Given the description of an element on the screen output the (x, y) to click on. 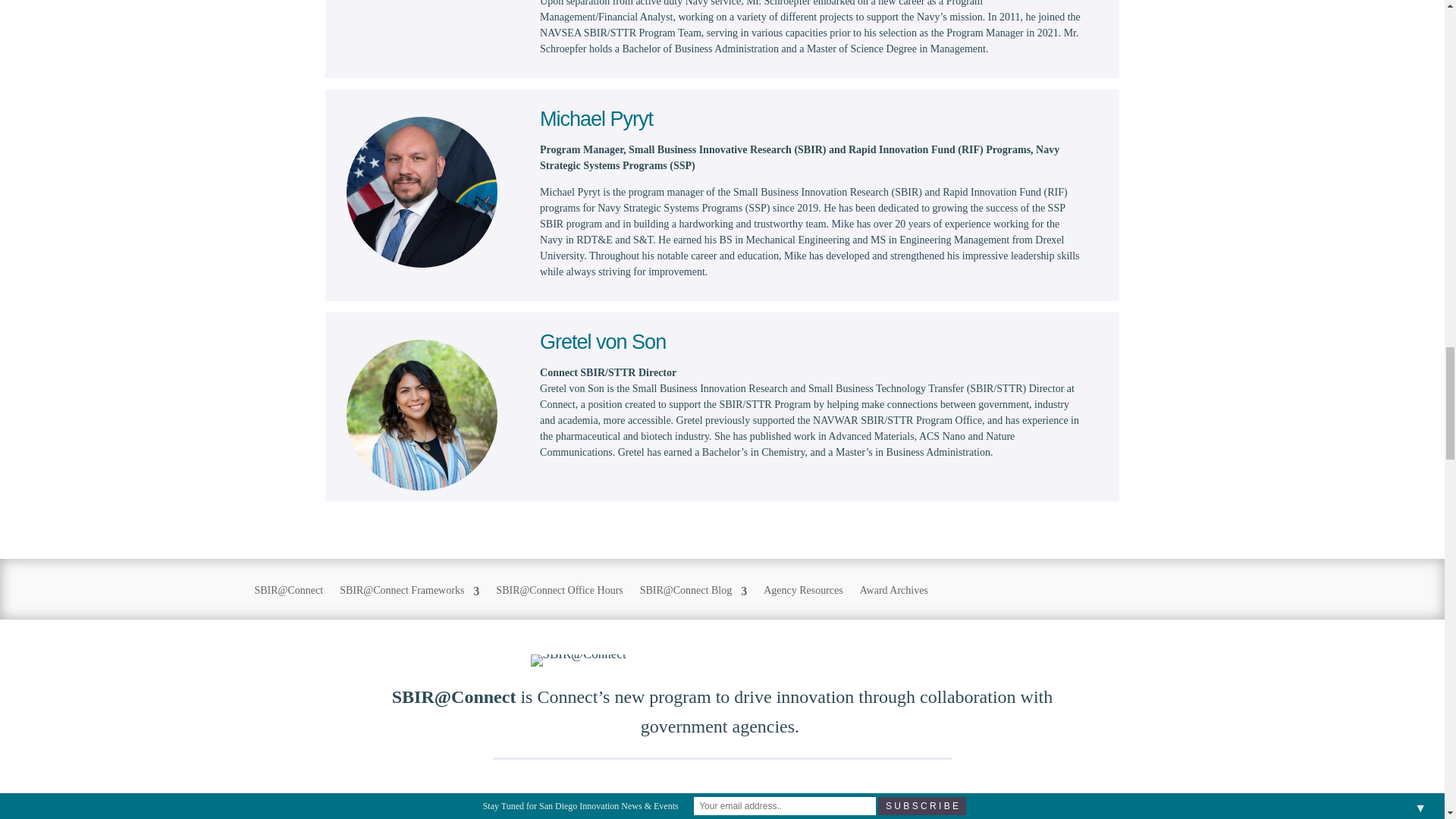
Award Archives (894, 601)
Gretel re sized (421, 414)
Michael Pyryt (421, 192)
Agency Resources (802, 601)
